Given the description of an element on the screen output the (x, y) to click on. 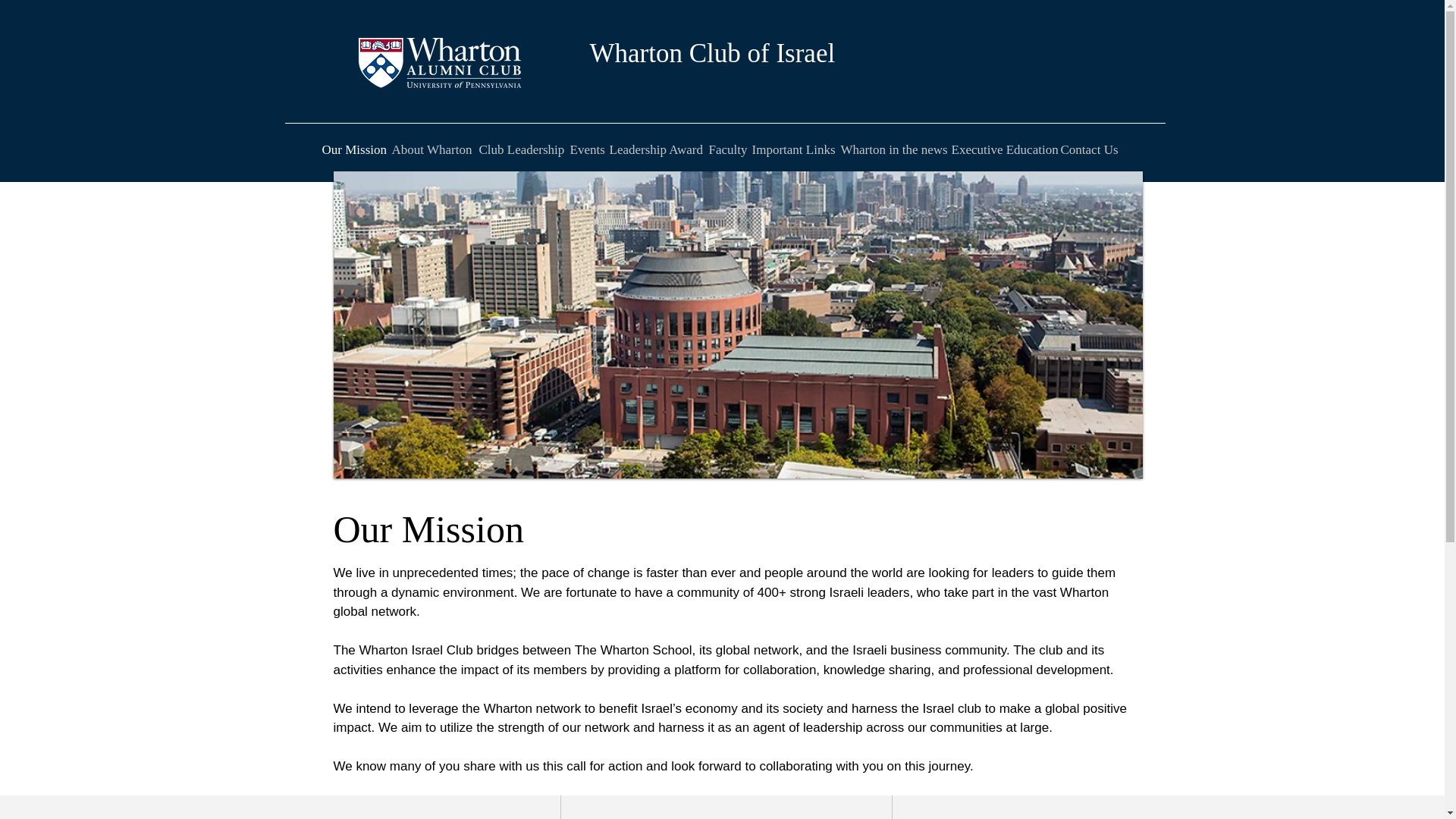
Leadership Award (656, 149)
Faculty (726, 149)
Wharton in the news (892, 149)
About Wharton (432, 149)
Club Leadership (521, 149)
Important Links (793, 149)
Executive Education (1002, 149)
Events (587, 149)
Contact Us (1087, 149)
Our Mission (352, 149)
